Given the description of an element on the screen output the (x, y) to click on. 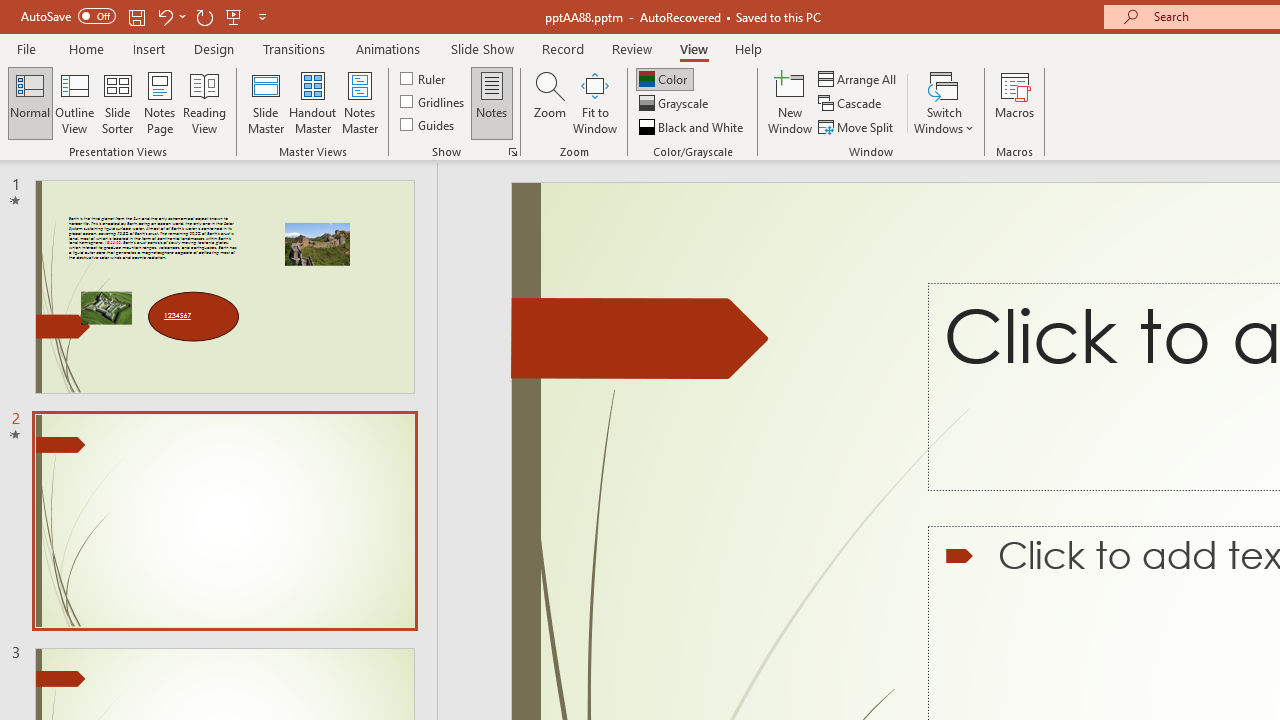
Fit to Window (594, 102)
Notes (492, 102)
